Given the description of an element on the screen output the (x, y) to click on. 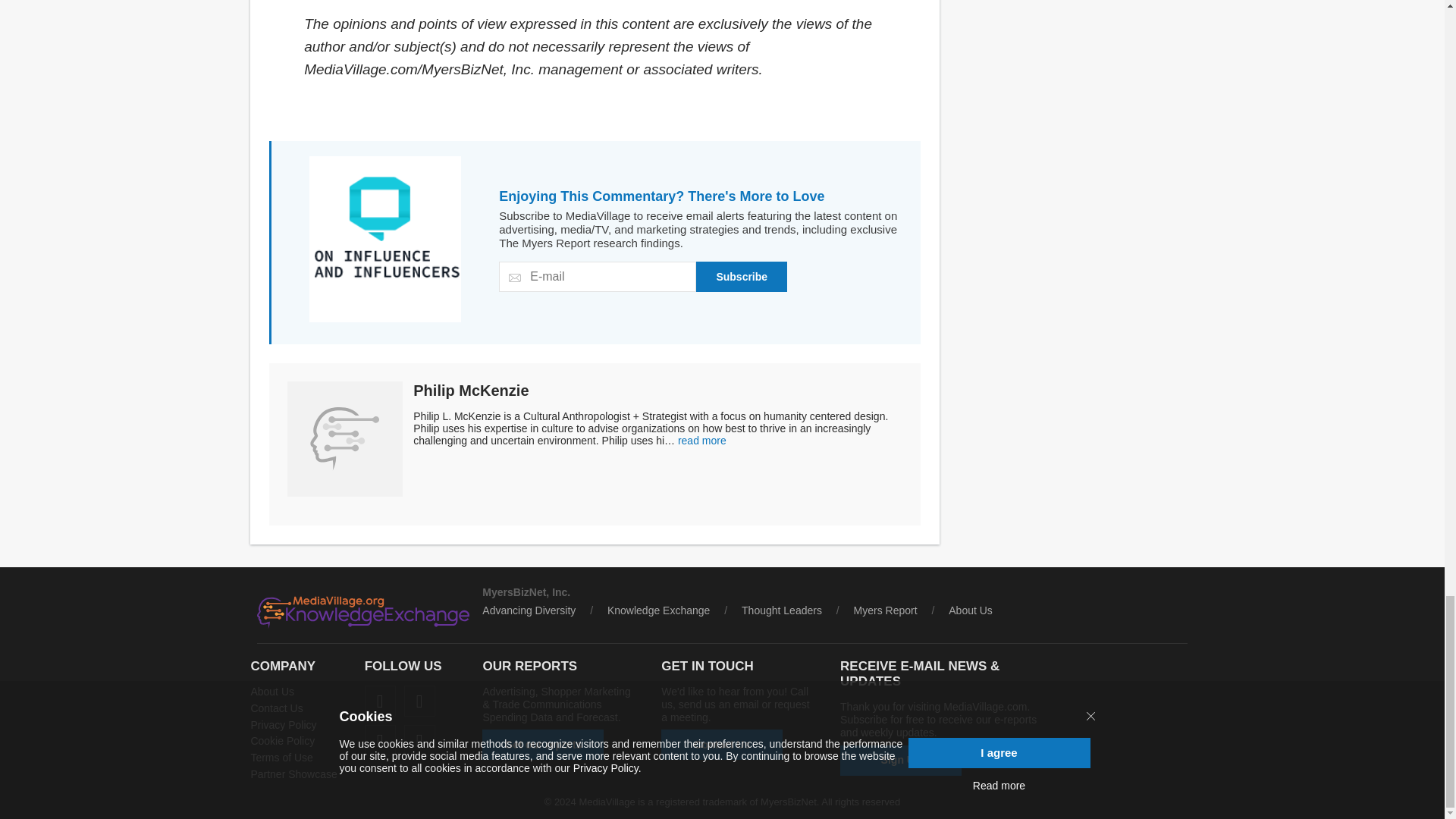
Follow us on Facebook (380, 700)
Rss (419, 739)
Follow us on Instagram (380, 739)
Follow us on LinkedIn (419, 700)
